Given the description of an element on the screen output the (x, y) to click on. 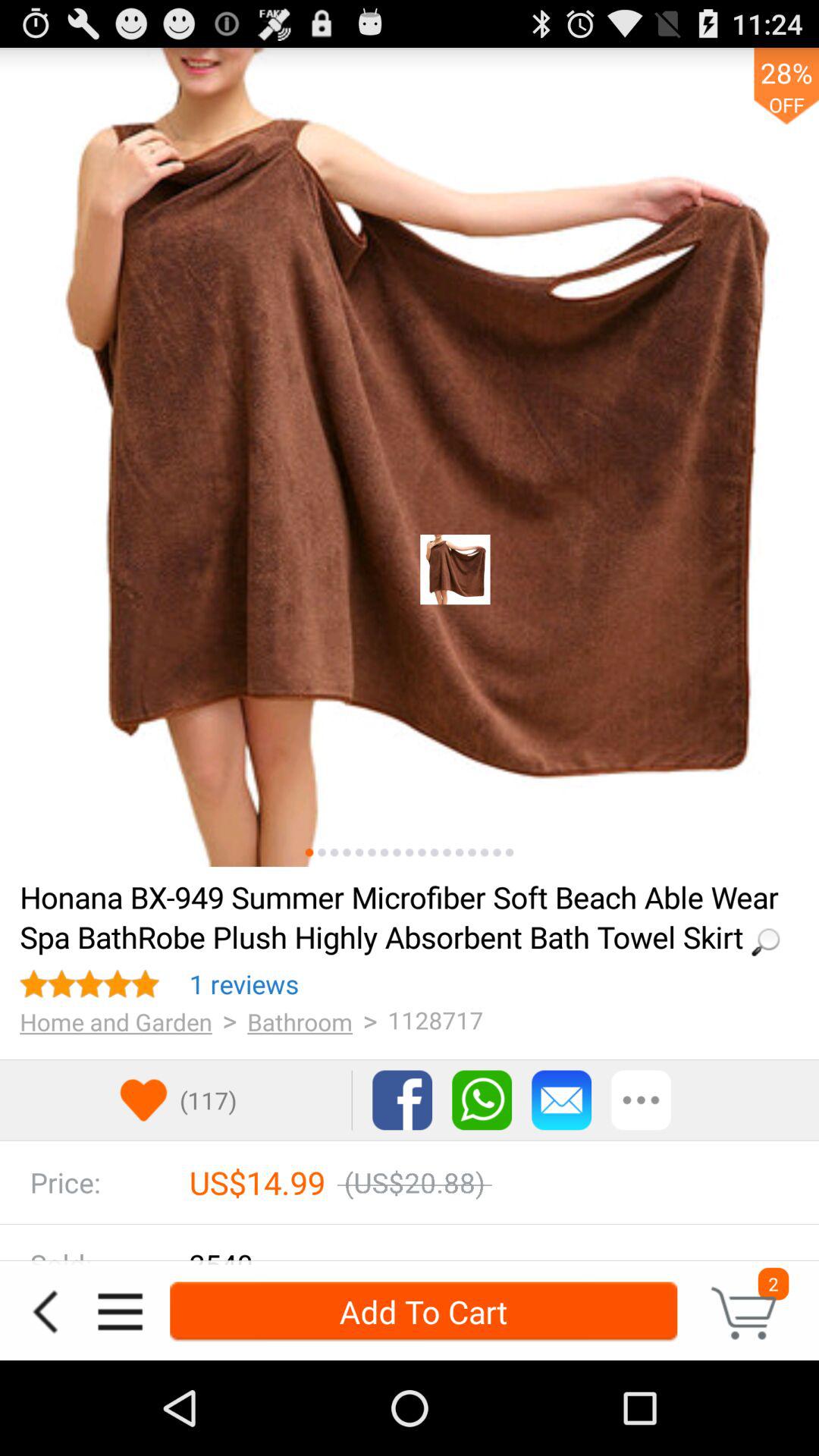
see photos (484, 852)
